Given the description of an element on the screen output the (x, y) to click on. 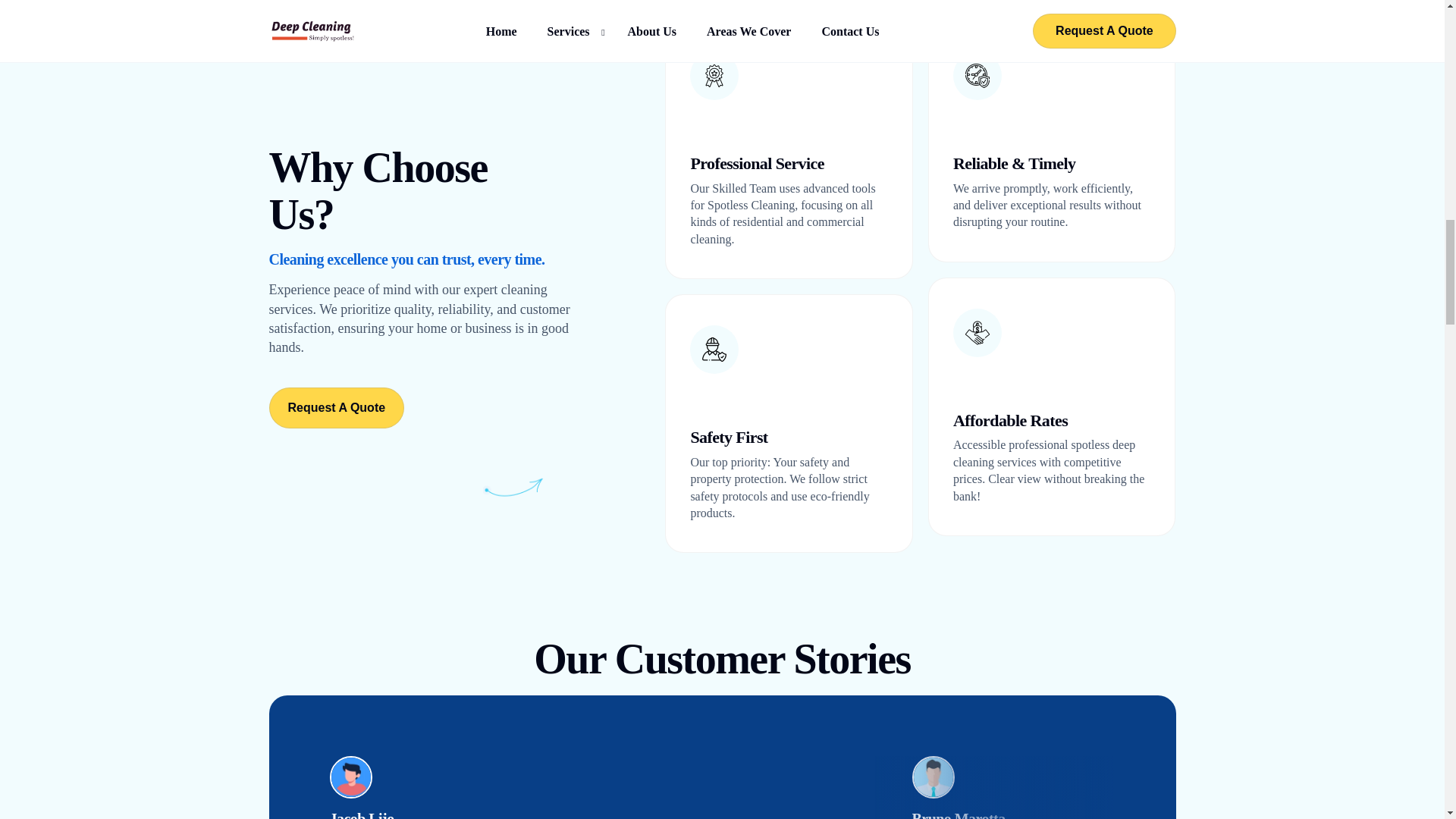
Request A Quote (335, 407)
